Given the description of an element on the screen output the (x, y) to click on. 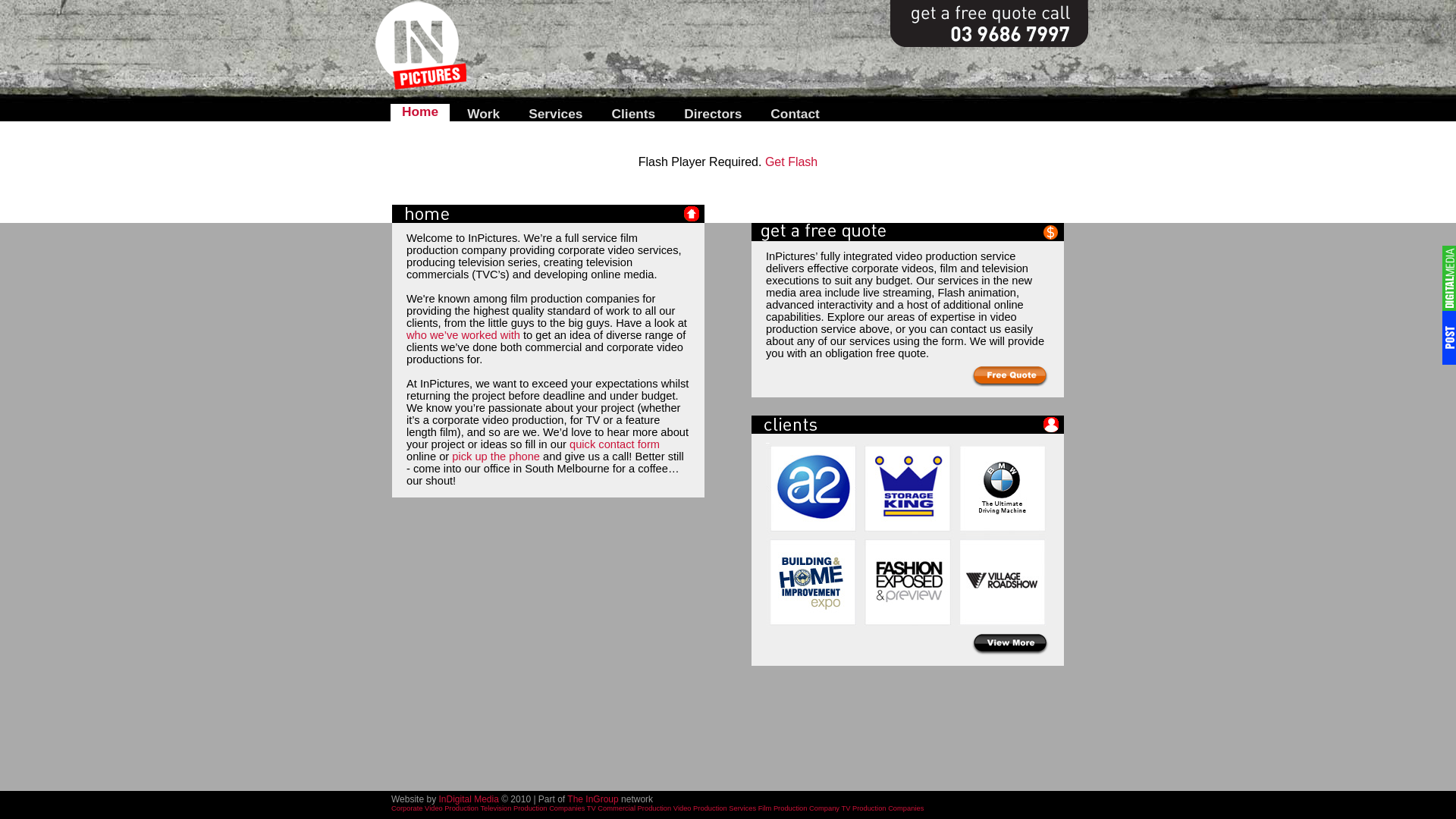
InDigital Media Element type: text (468, 798)
Home Element type: text (419, 112)
Television Production Companies Element type: text (532, 808)
video production service Element type: text (890, 322)
pick up the phone Element type: text (495, 456)
Video Production Services Element type: text (714, 808)
quick contact form Element type: text (614, 444)
corporate video services Element type: text (618, 250)
Get Flash Element type: text (791, 161)
Work Element type: text (483, 112)
Services Element type: text (555, 112)
Corporate Video Production Element type: text (434, 808)
Film Production Company Element type: text (798, 808)
video production service Element type: text (955, 256)
film production companies Element type: text (574, 298)
Clients Element type: text (632, 112)
film production company Element type: text (521, 244)
TV Commercial Production Element type: text (628, 808)
  Element type: text (1009, 375)
TV Production Companies Element type: text (881, 808)
The InGroup Element type: text (592, 798)
  Element type: text (1009, 644)
Directors Element type: text (712, 112)
Contact Element type: text (795, 112)
